Given the description of an element on the screen output the (x, y) to click on. 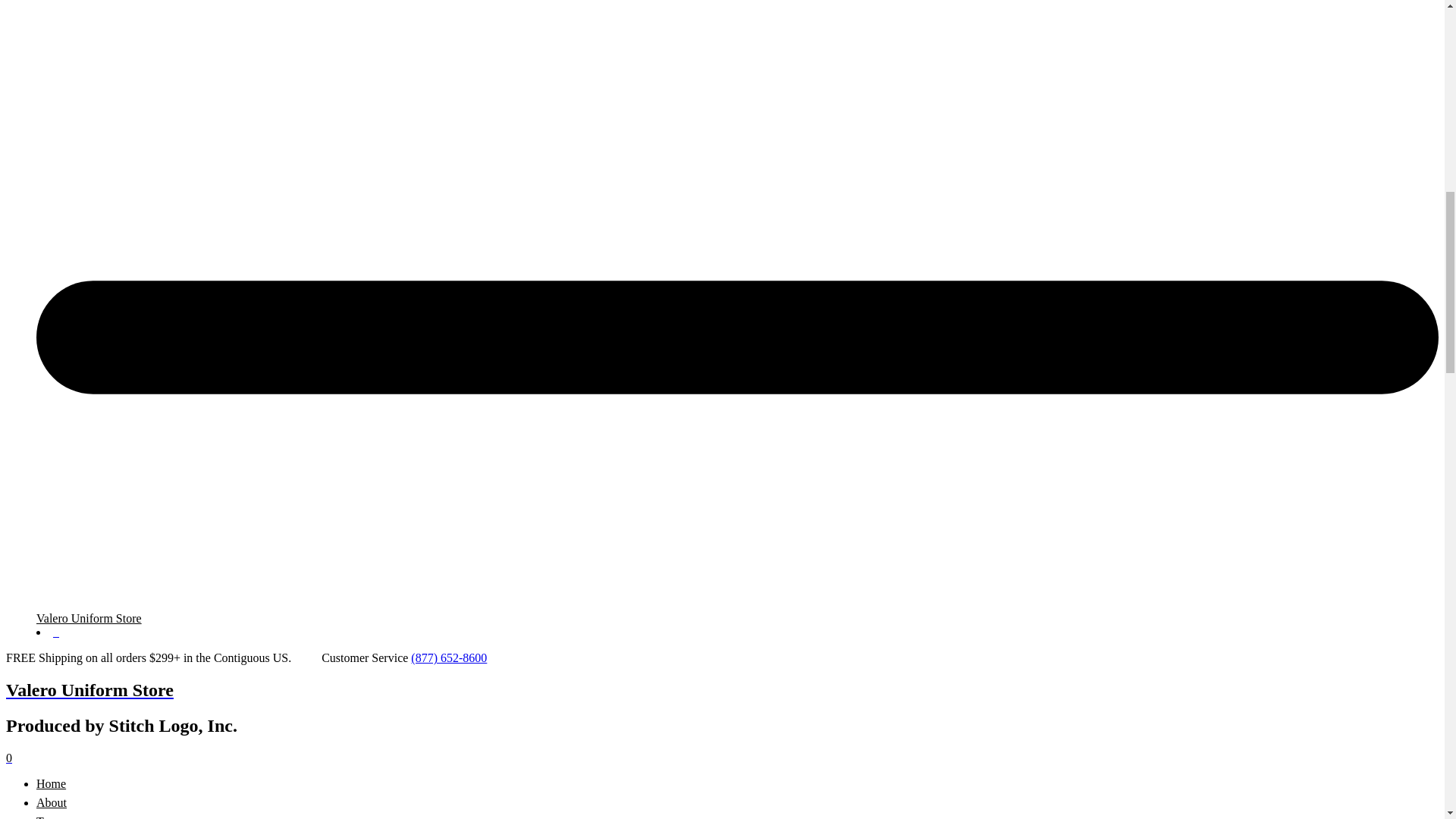
This is a description (51, 802)
Home (50, 783)
About (51, 802)
Terms (51, 816)
Valero Uniform Store (88, 617)
